Given the description of an element on the screen output the (x, y) to click on. 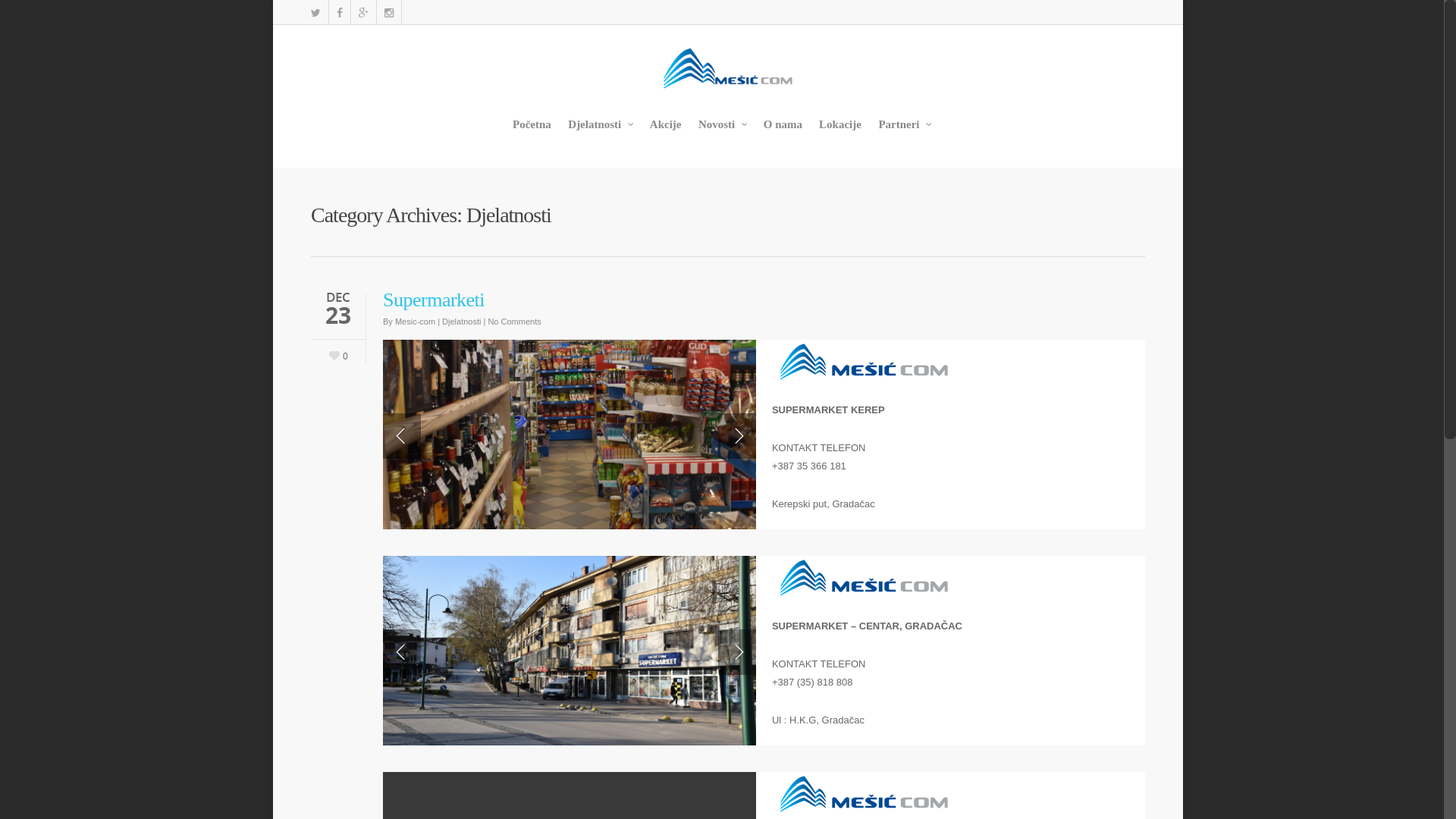
Lokacije Element type: text (840, 135)
0 Element type: text (336, 353)
Supermarketi Element type: text (433, 299)
Djelatnosti Element type: text (461, 321)
Mesic-com Element type: text (415, 321)
O nama Element type: text (782, 135)
No Comments Element type: text (513, 321)
Partneri Element type: text (904, 135)
Djelatnosti Element type: text (600, 135)
Akcije Element type: text (665, 135)
Novosti Element type: text (722, 135)
